Given the description of an element on the screen output the (x, y) to click on. 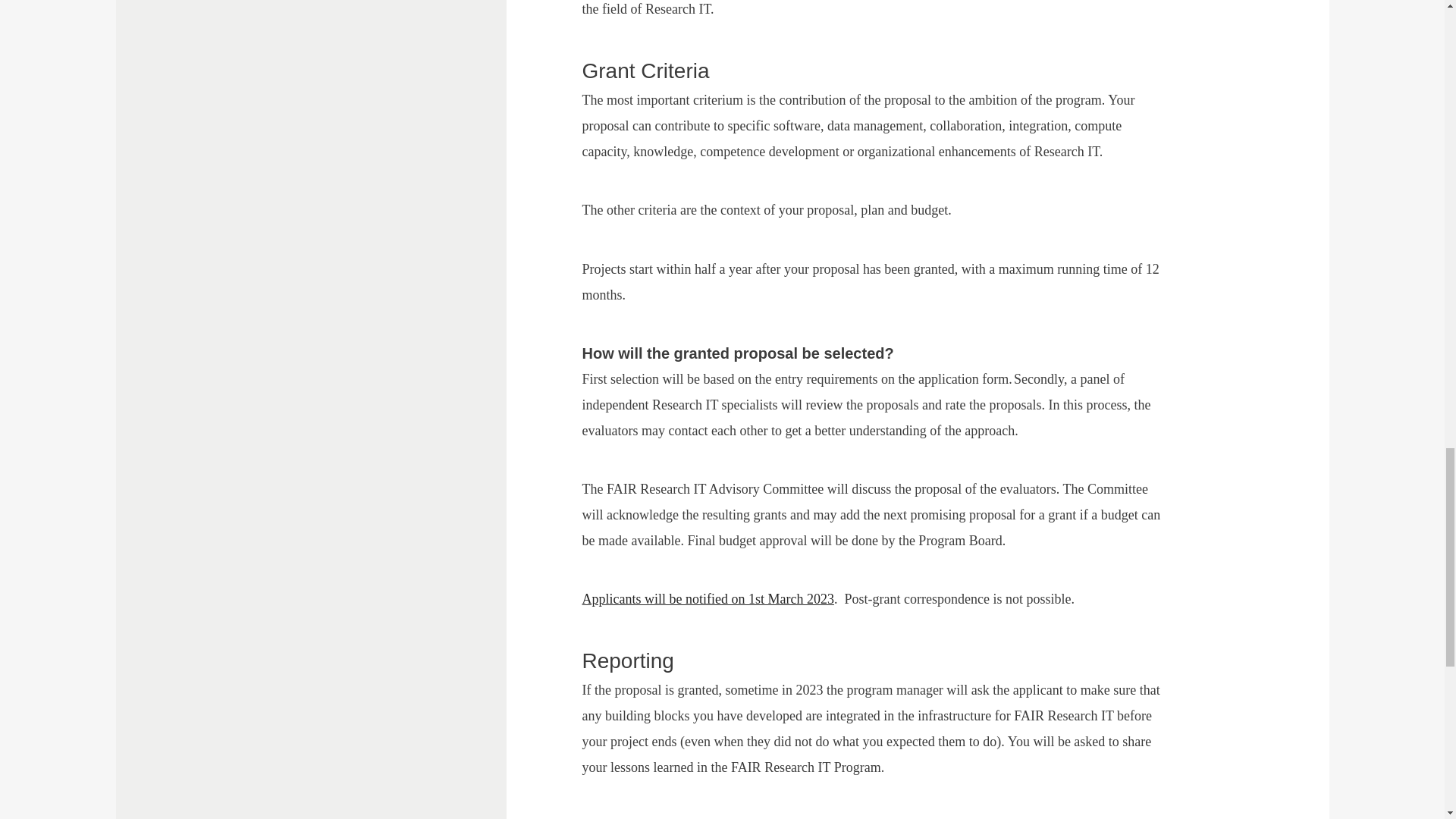
Applicants will be notified on 1st March 2023 (708, 598)
